Given the description of an element on the screen output the (x, y) to click on. 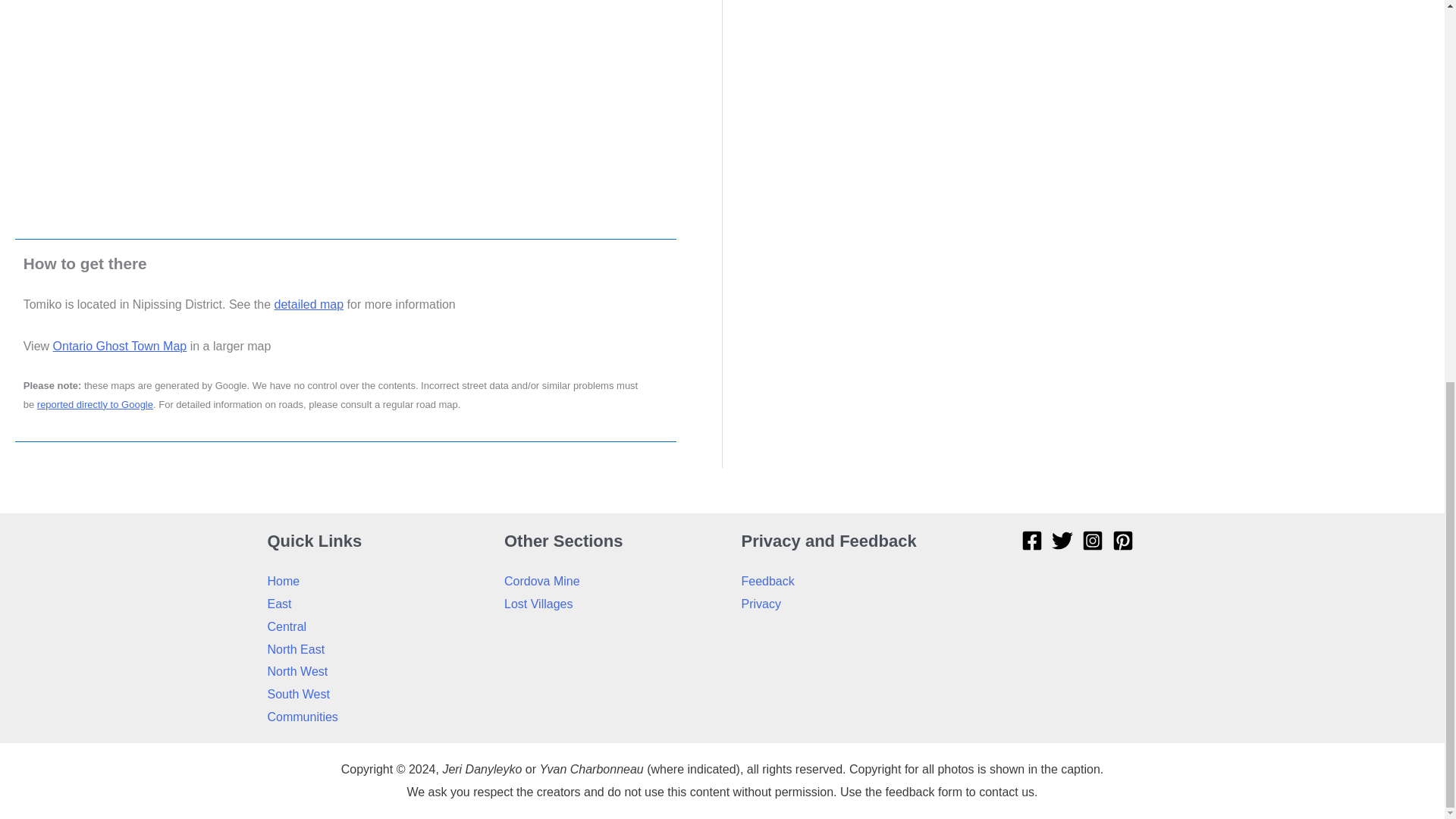
Ontario Ghost Town Map (119, 345)
East (278, 603)
detailed map (309, 304)
reported directly to Google (94, 404)
Home (282, 581)
